Given the description of an element on the screen output the (x, y) to click on. 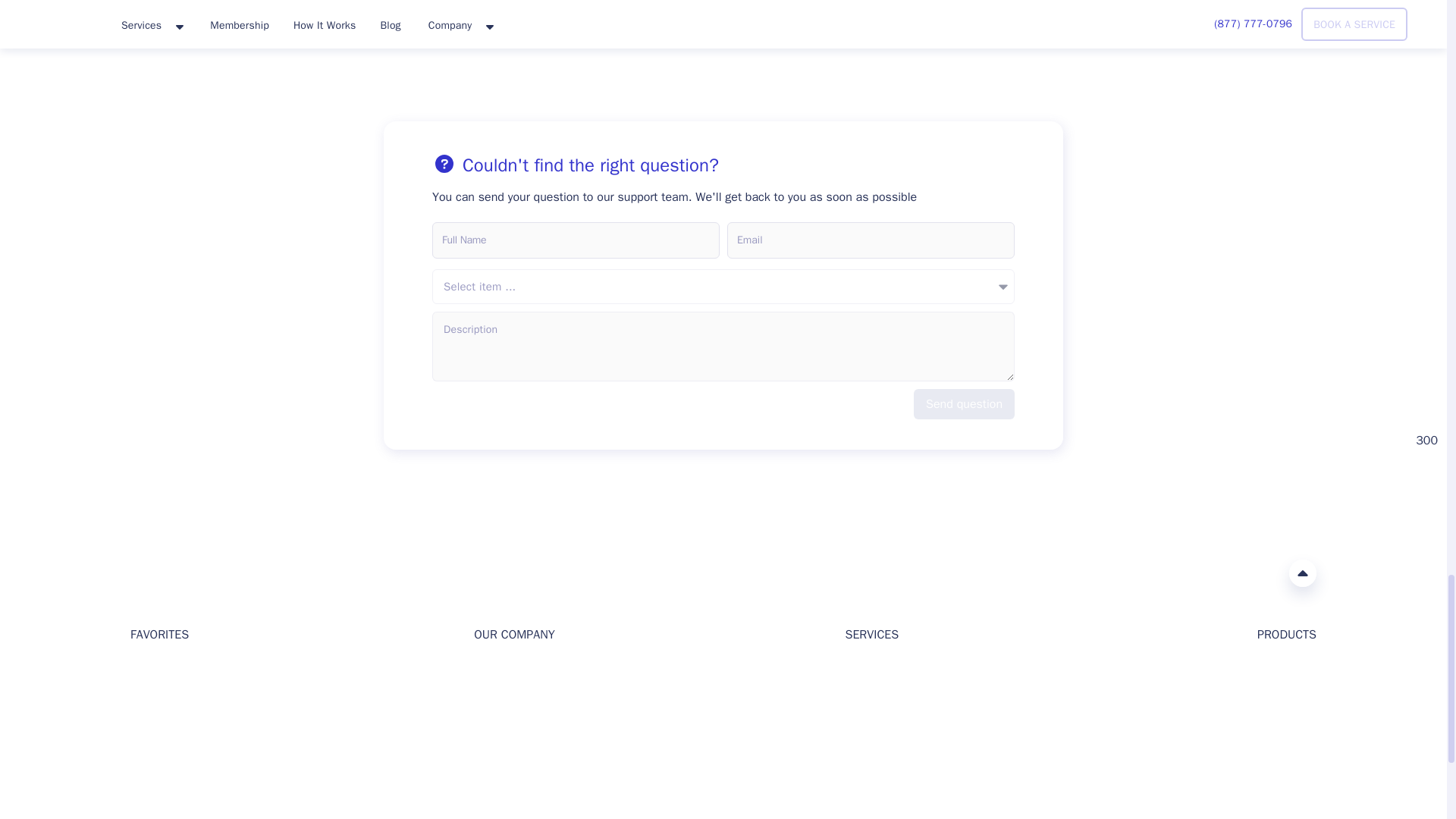
About Us (496, 671)
Investors (496, 695)
Membership (160, 768)
Blog (141, 695)
Select item ... (723, 286)
How It Works (506, 719)
HomeAlliance (146, 572)
Welcome (152, 671)
